Given the description of an element on the screen output the (x, y) to click on. 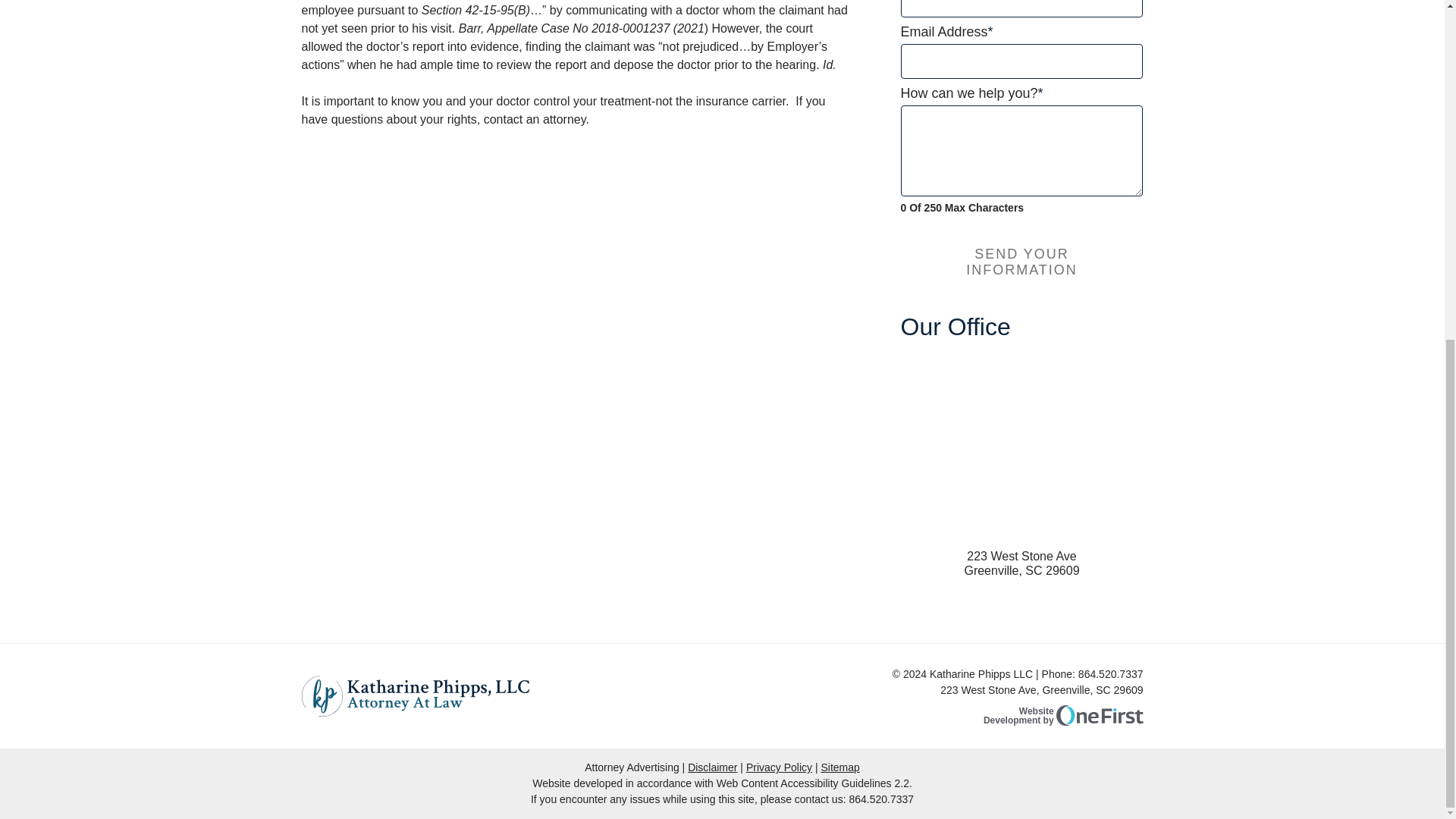
Disclaimer (711, 767)
Privacy Policy (778, 767)
Sitemap (840, 767)
SEND YOUR INFORMATION (1021, 262)
